Given the description of an element on the screen output the (x, y) to click on. 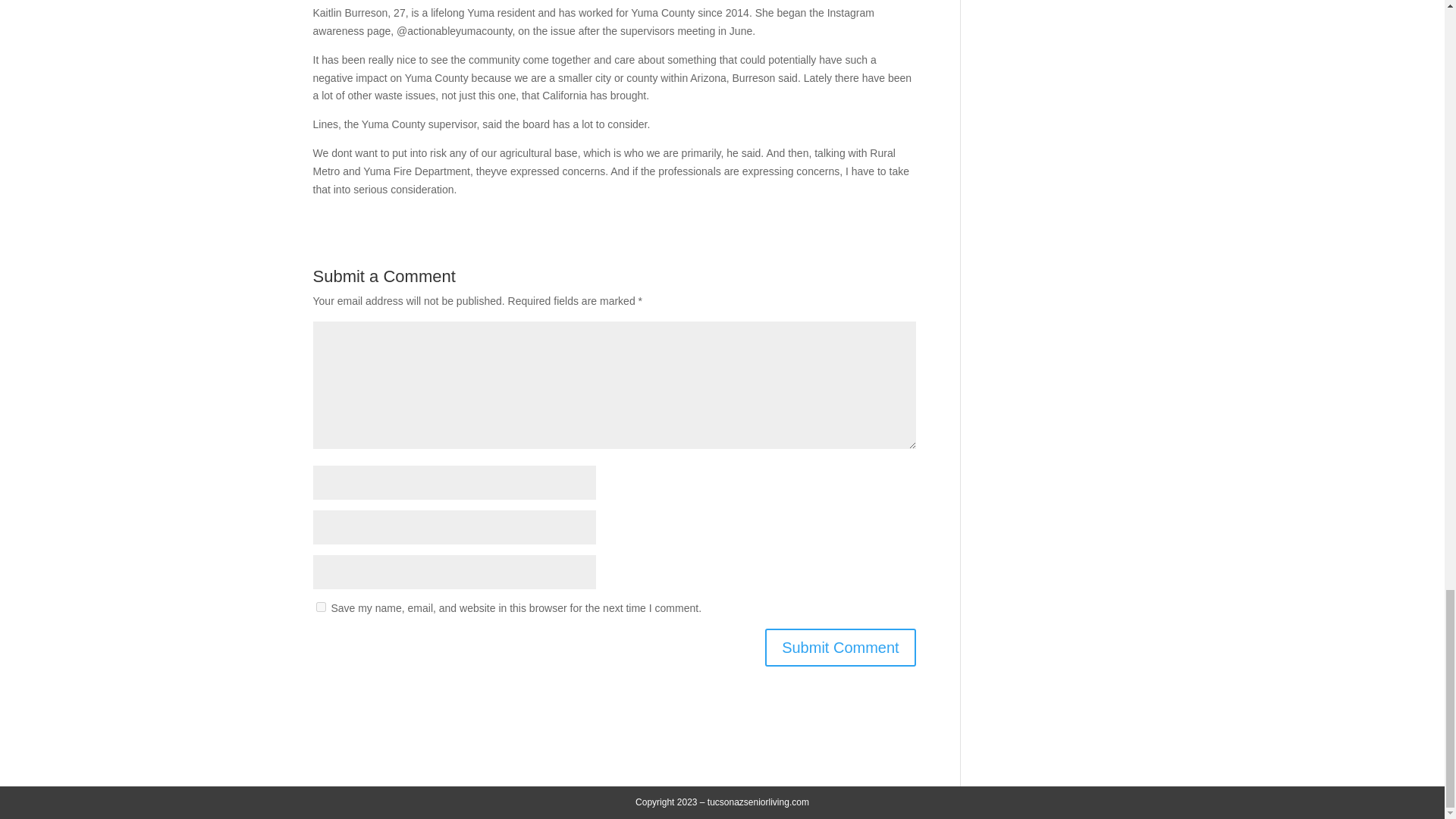
Submit Comment (840, 647)
yes (319, 606)
Submit Comment (840, 647)
